Given the description of an element on the screen output the (x, y) to click on. 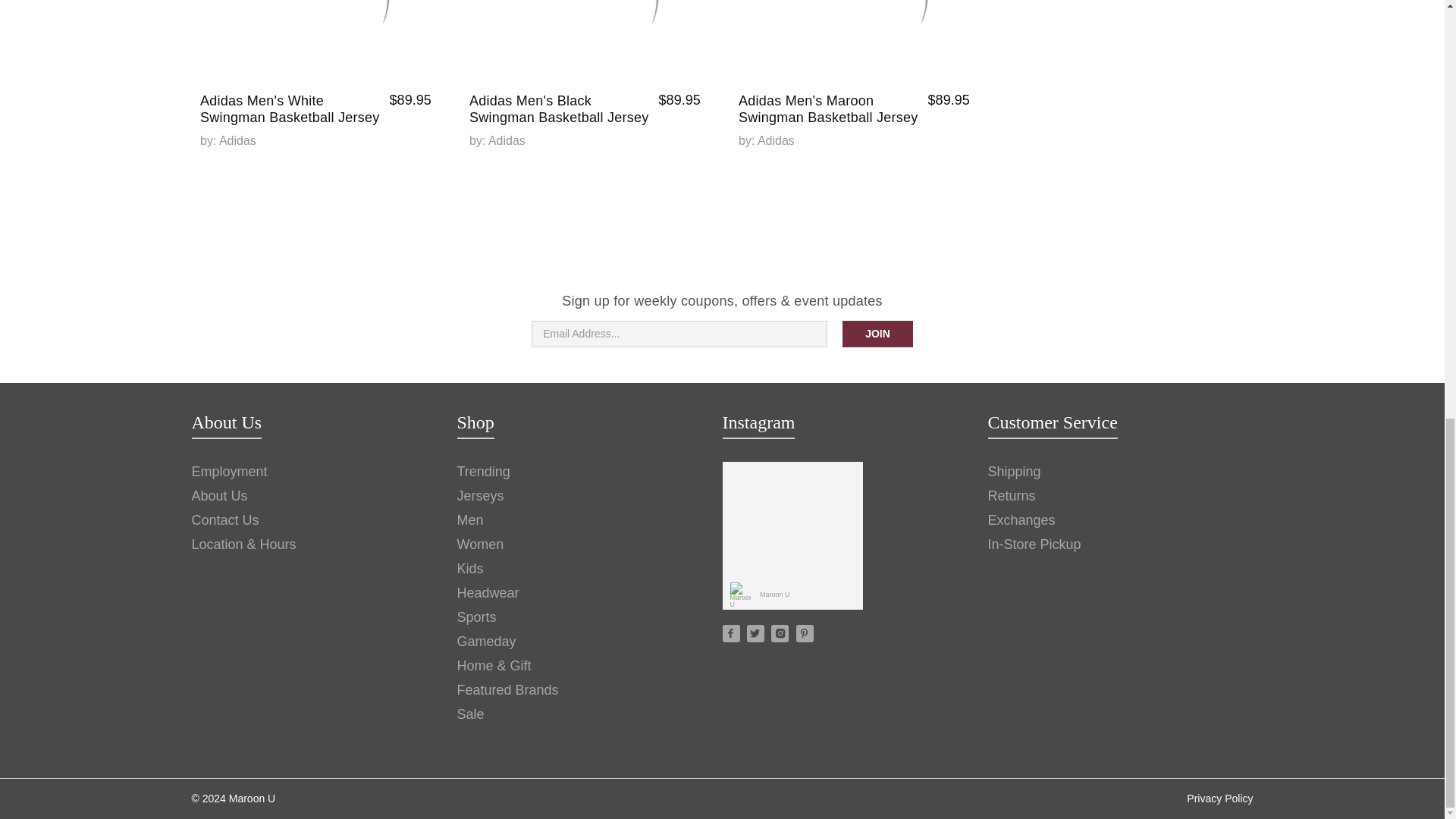
Join (877, 334)
